Given the description of an element on the screen output the (x, y) to click on. 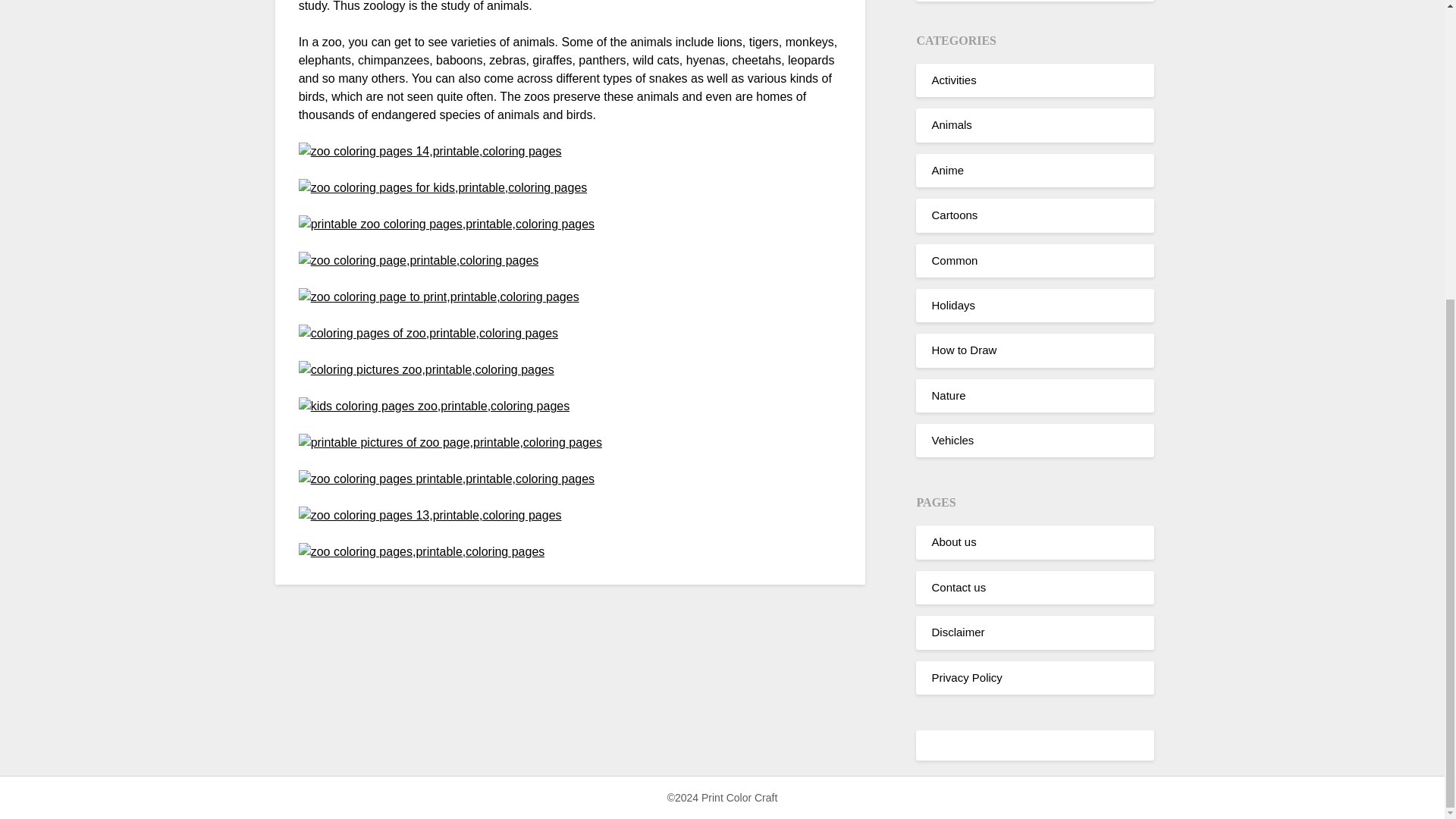
Cartoons (953, 214)
Contact us (958, 586)
About us (953, 541)
Common (953, 259)
Holidays (953, 305)
zoo coloring pages (418, 260)
Animals (951, 124)
zoo coloring pages (430, 151)
zoo coloring pages (430, 515)
zoo coloring pages (443, 188)
zoo coloring pages (450, 443)
zoo coloring pages (426, 370)
zoo coloring pages (446, 479)
Anime (947, 169)
zoo coloring pages (427, 333)
